Given the description of an element on the screen output the (x, y) to click on. 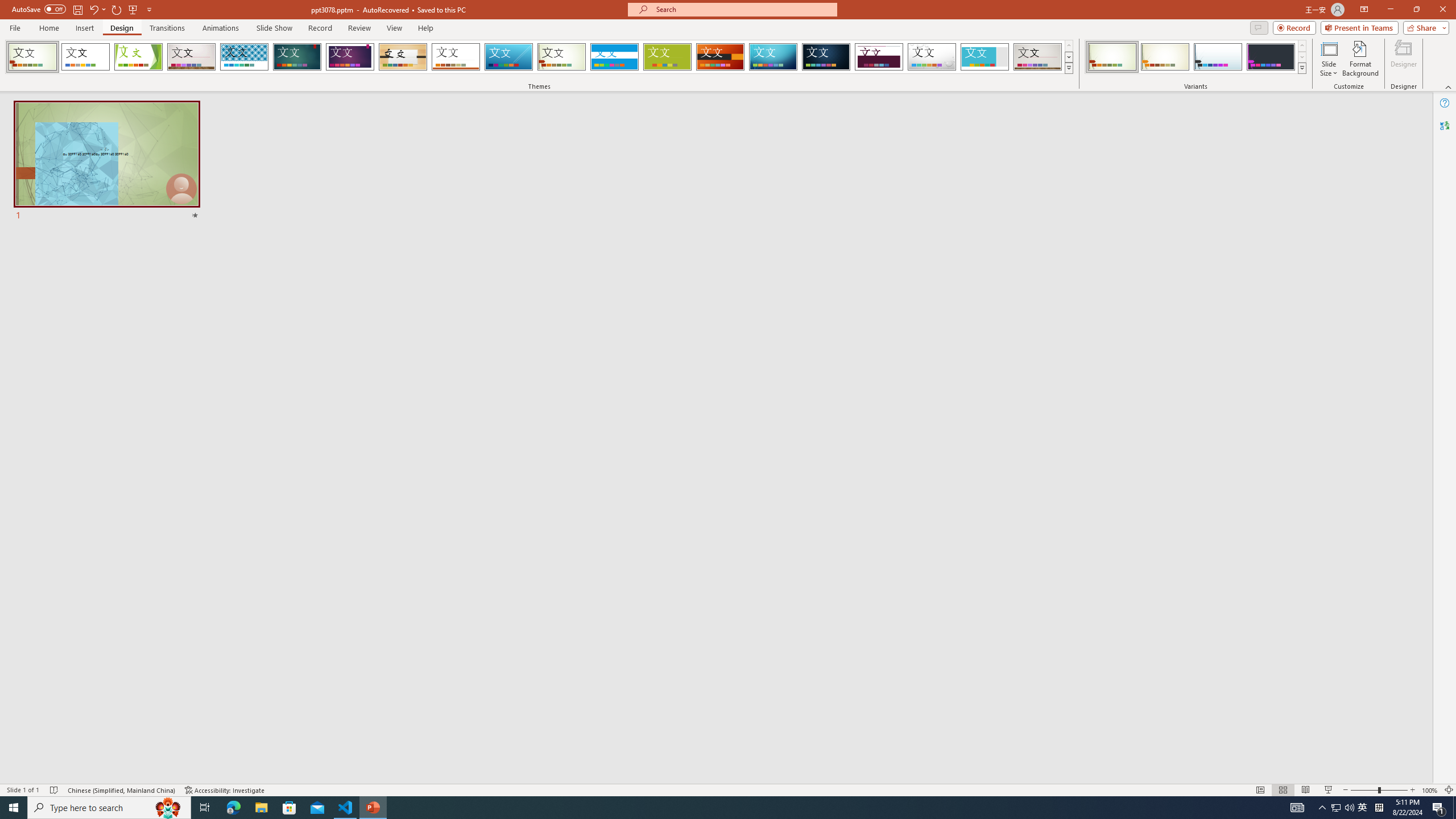
Themes (1068, 67)
Ion (296, 56)
Zoom 100% (1430, 790)
Spell Check No Errors (54, 790)
Slide Size (1328, 58)
Wisp (561, 56)
Row up (1301, 45)
Frame (984, 56)
